Given the description of an element on the screen output the (x, y) to click on. 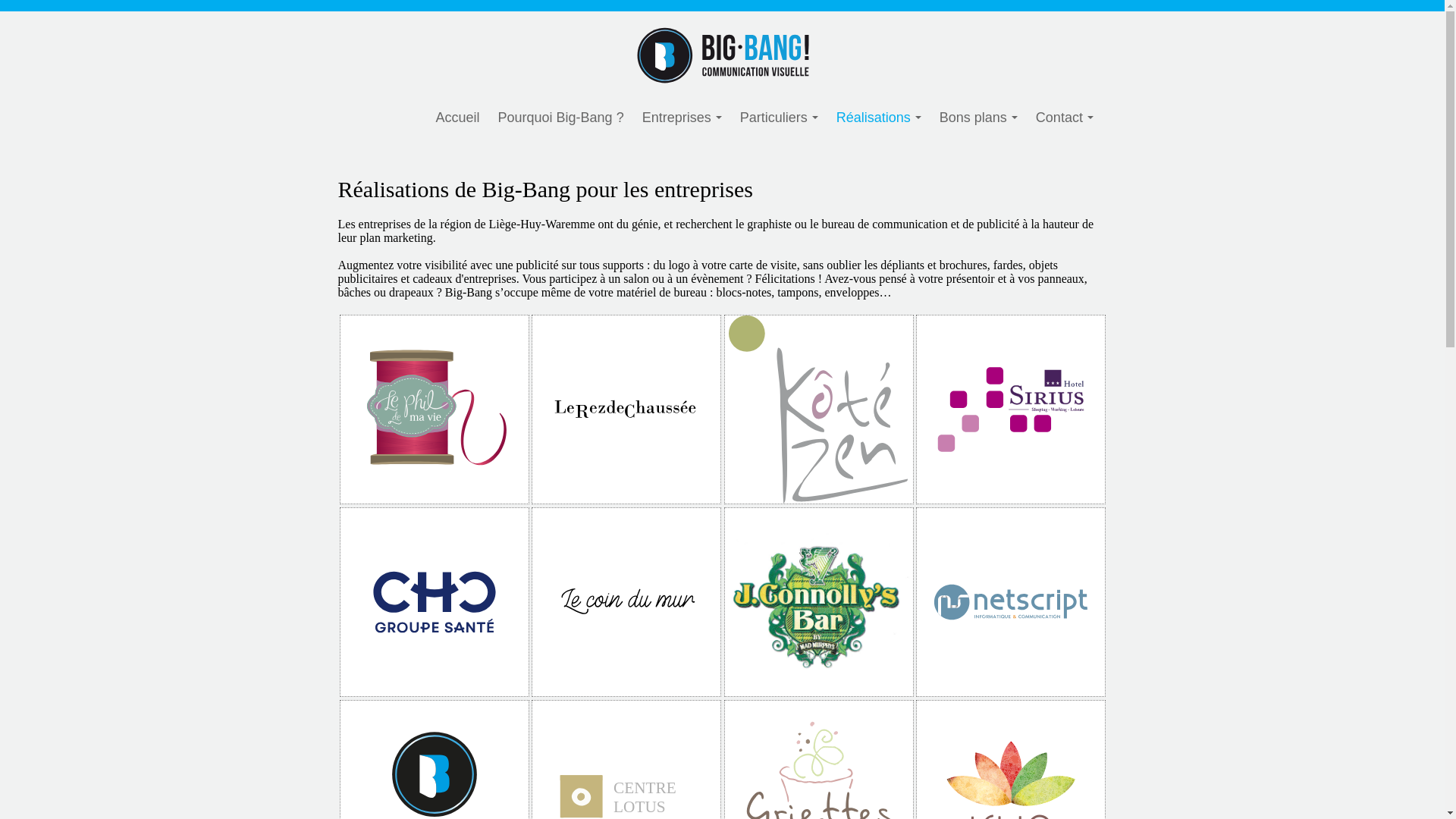
Accueil Element type: text (457, 117)
Bons plans Element type: text (978, 117)
Pourquoi Big-Bang ? Element type: text (561, 117)
Entreprises Element type: text (682, 117)
Contact Element type: text (1064, 117)
Particuliers Element type: text (779, 117)
